Given the description of an element on the screen output the (x, y) to click on. 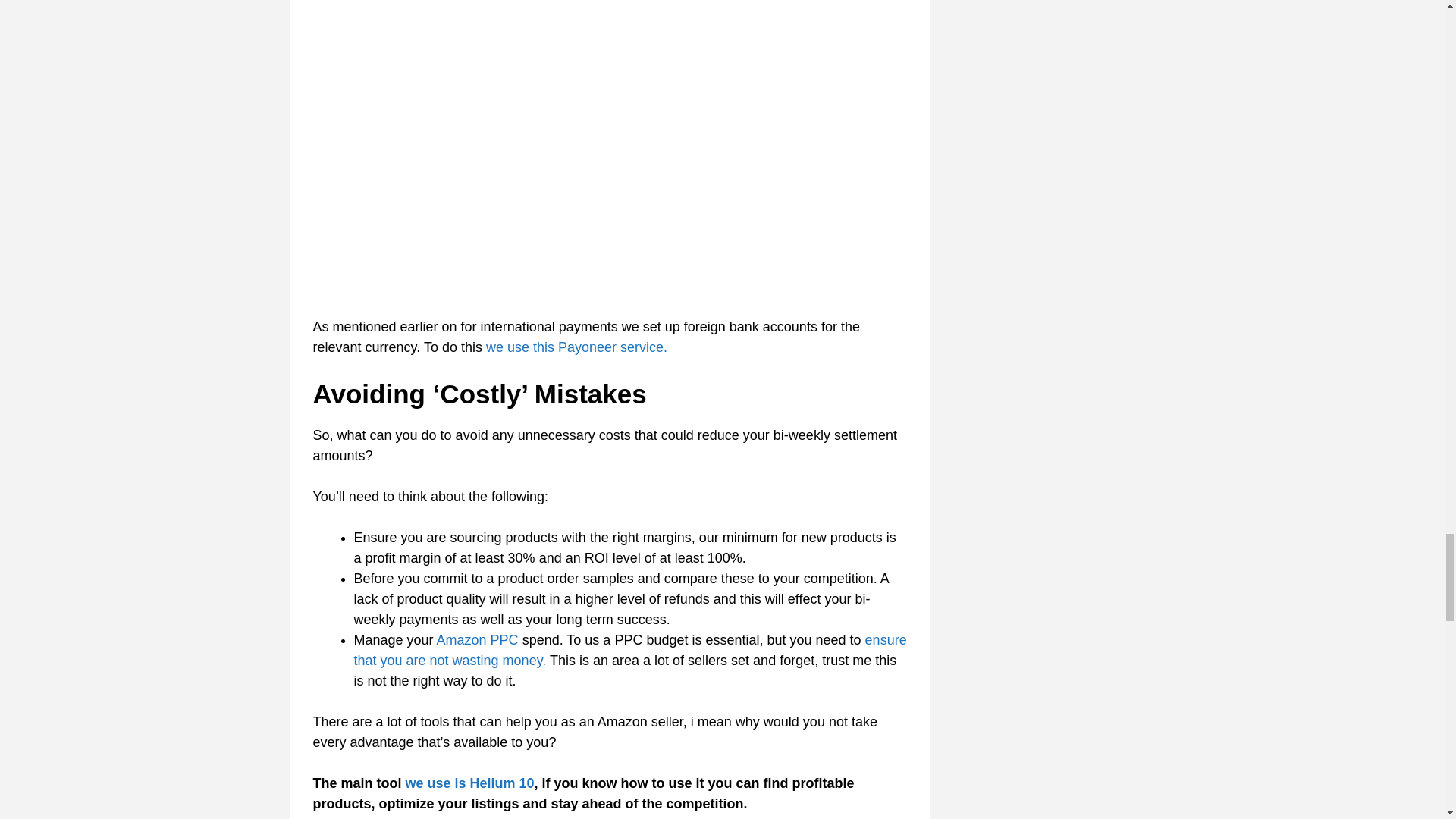
ensure that you are not wasting money. (629, 650)
we use this Payoneer service. (576, 346)
Amazon PPC (477, 639)
we use is Helium 10 (470, 783)
